Given the description of an element on the screen output the (x, y) to click on. 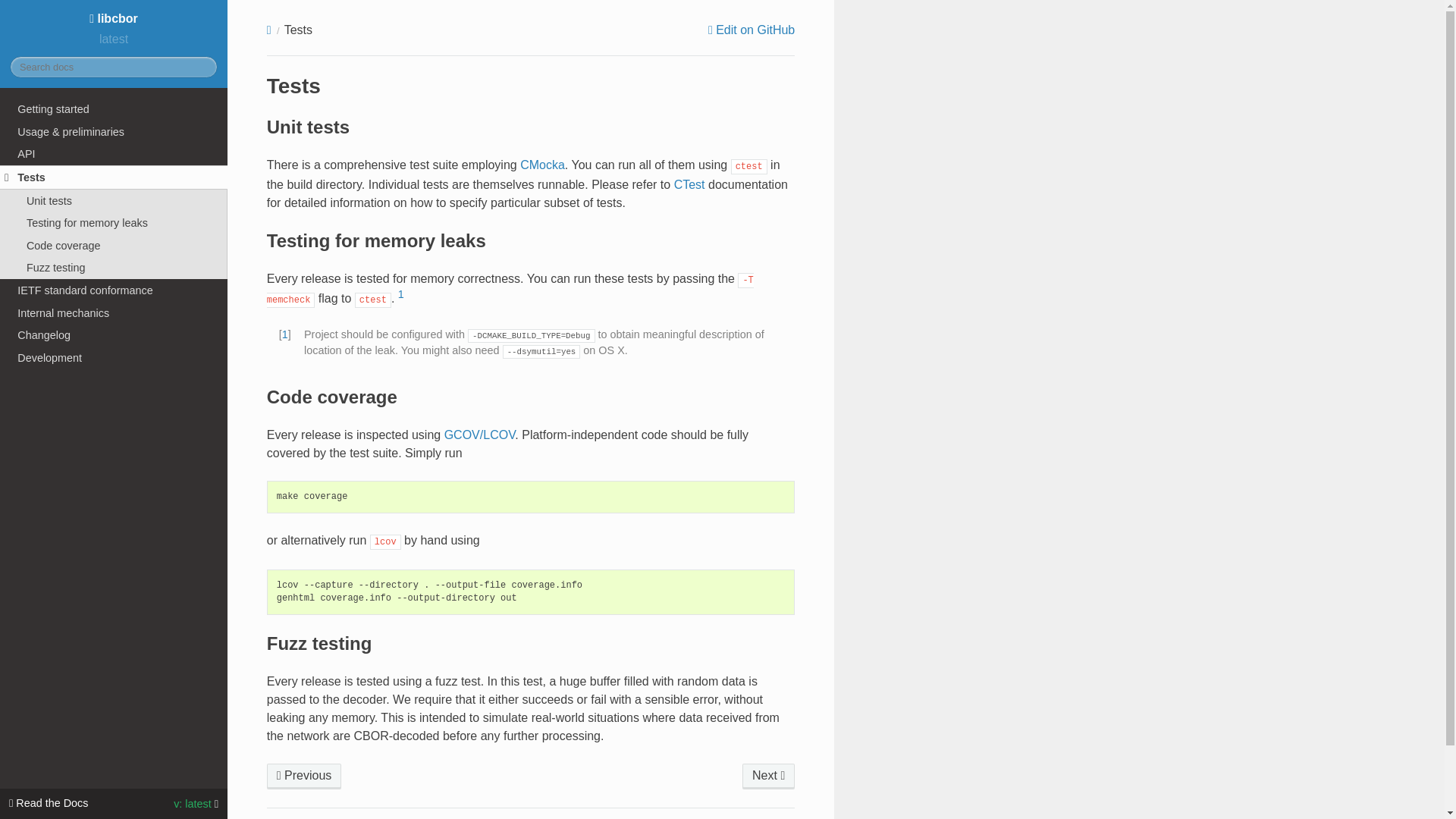
Edit on GitHub (750, 30)
IETF standard conformance (768, 776)
Testing for memory leaks (113, 222)
Internal mechanics (113, 313)
Changelog (113, 334)
CMocka (541, 164)
Getting started (113, 108)
Fuzz testing (113, 268)
API (113, 153)
Tests (113, 177)
